Given the description of an element on the screen output the (x, y) to click on. 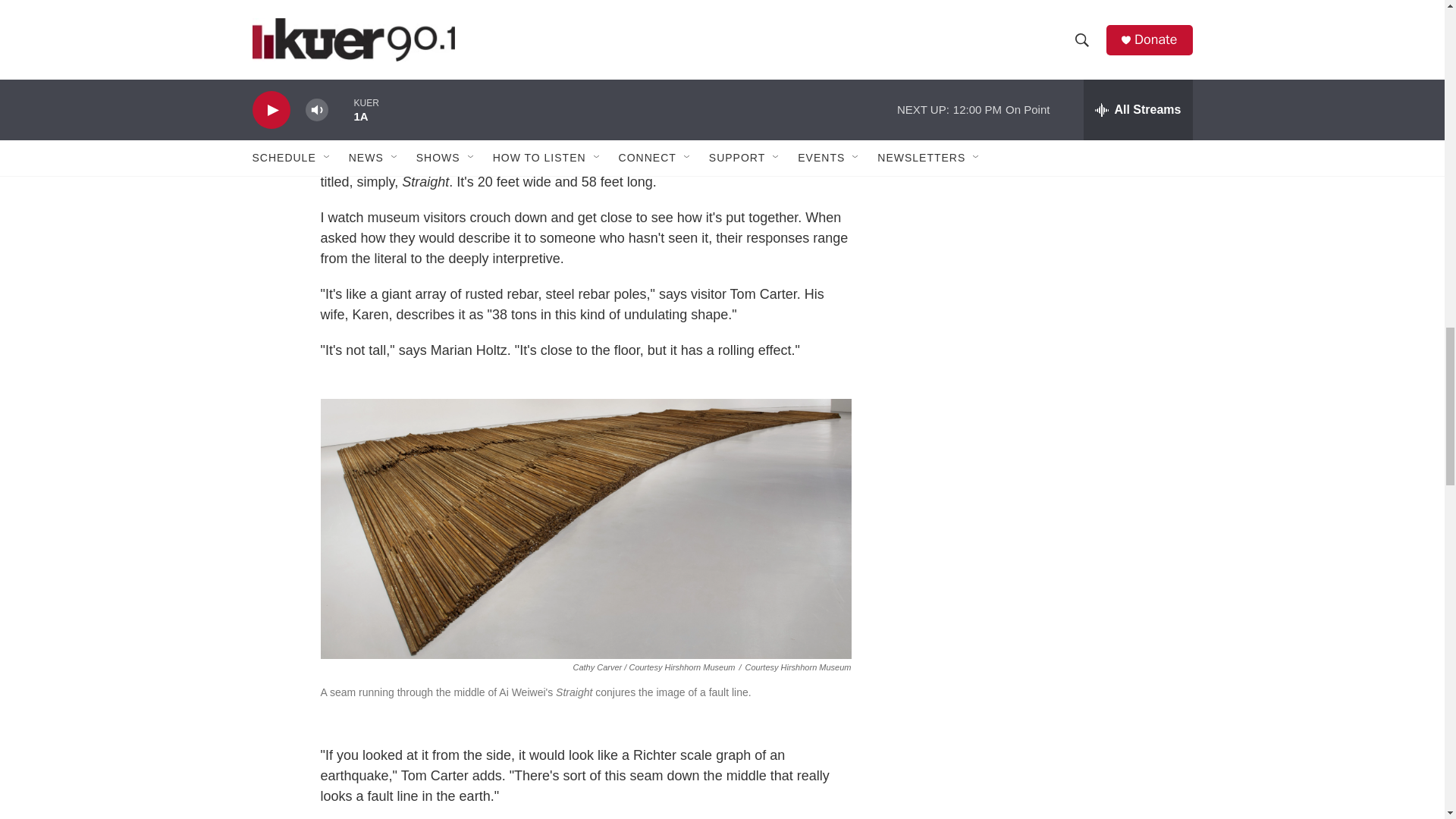
3rd party ad content (1062, 1)
